Given the description of an element on the screen output the (x, y) to click on. 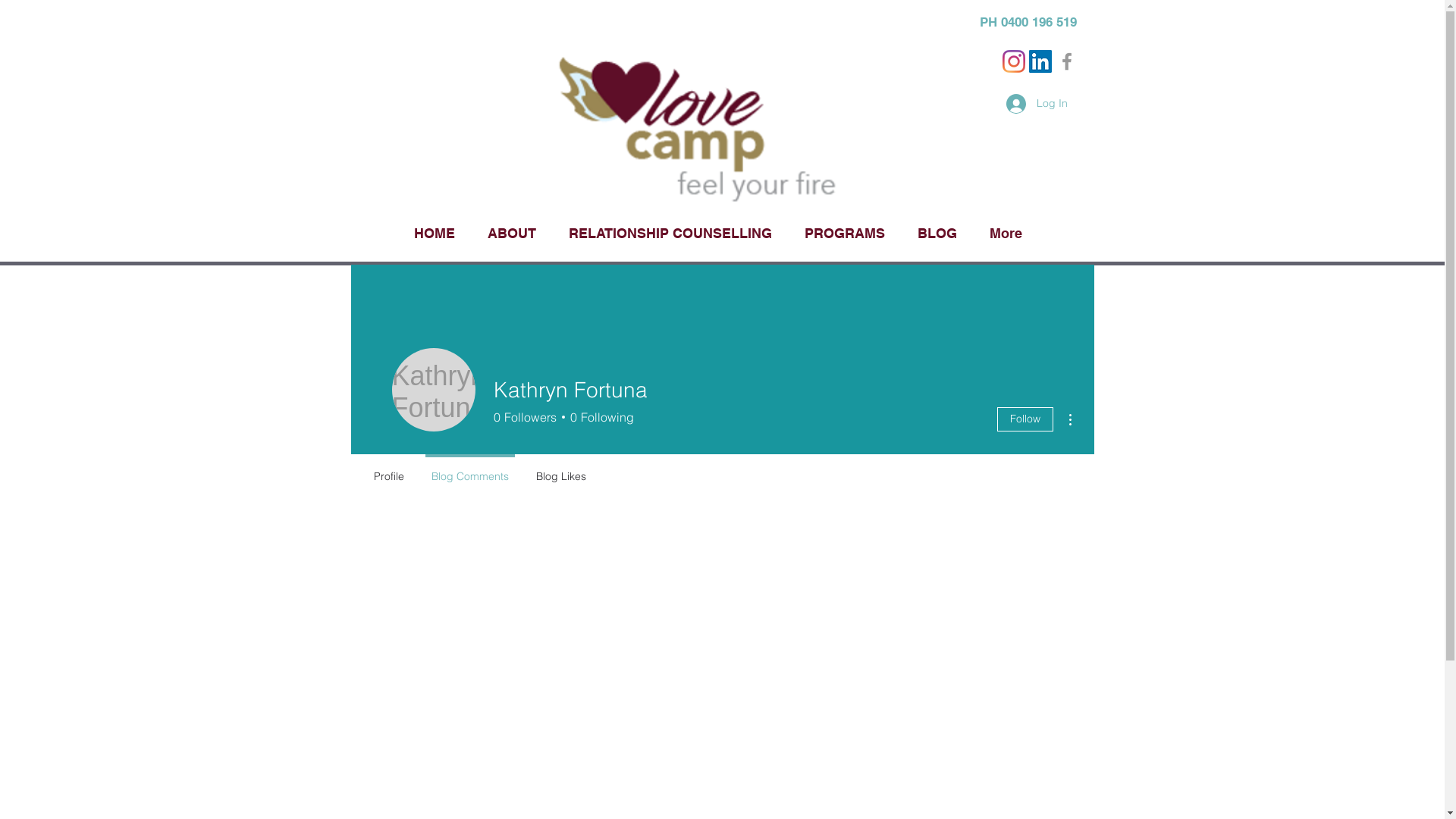
Kathryn Fortuna Element type: hover (432, 389)
Blog Comments Element type: text (469, 469)
PROGRAMS Element type: text (844, 226)
Blog Likes Element type: text (560, 469)
HOME Element type: text (434, 226)
0
Following Element type: text (598, 416)
0
Followers Element type: text (523, 416)
RELATIONSHIP COUNSELLING Element type: text (669, 226)
BLOG Element type: text (936, 226)
ABOUT Element type: text (511, 226)
Profile Element type: text (388, 469)
Log In Element type: text (1035, 103)
Follow Element type: text (1024, 419)
